Given the description of an element on the screen output the (x, y) to click on. 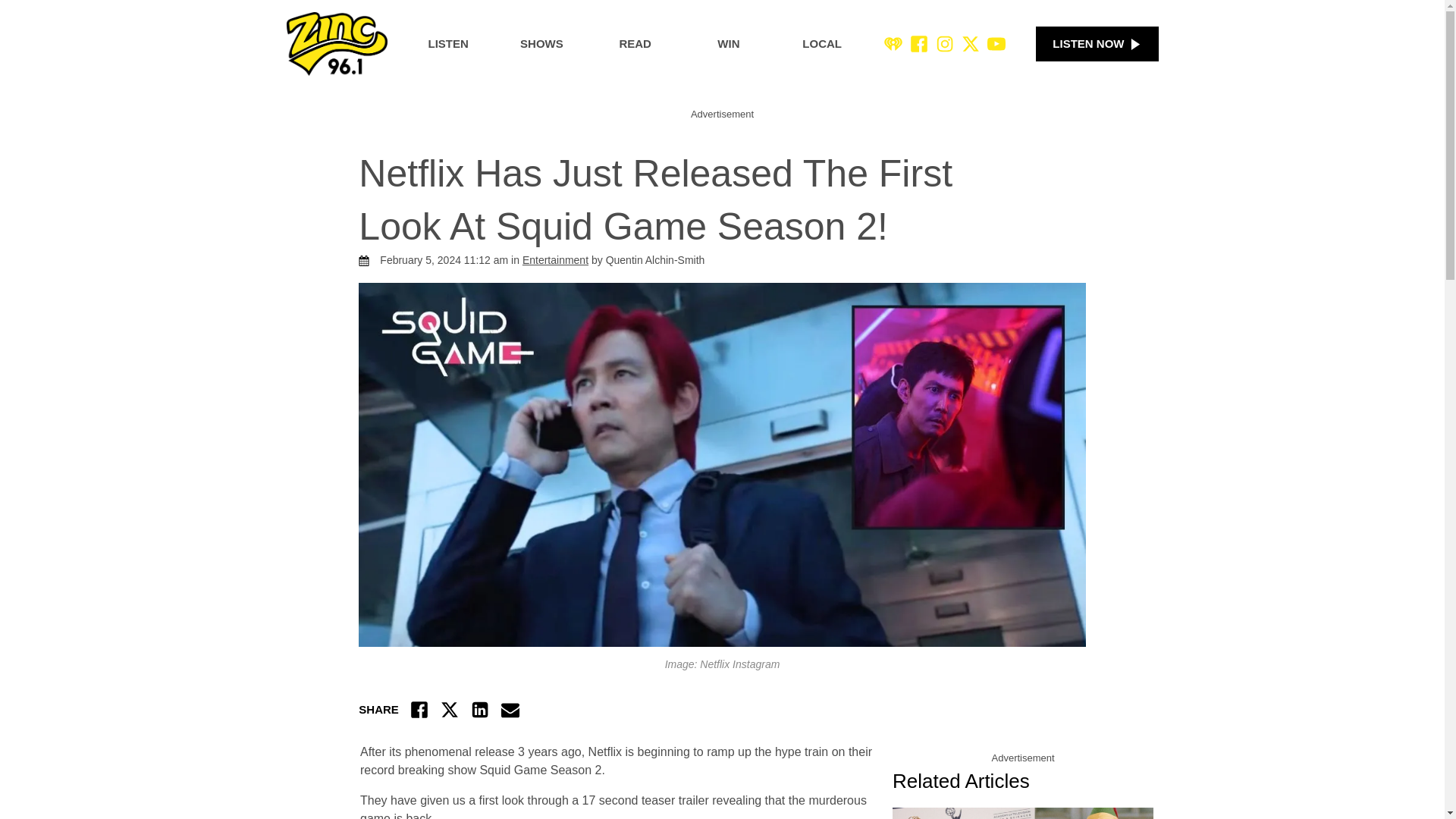
SHOWS (541, 43)
LISTEN NOW (1096, 44)
WIN (727, 43)
READ (634, 43)
Facebook (919, 44)
YouTube (996, 44)
iHeart (892, 44)
LISTEN (448, 43)
LOCAL (822, 43)
Instagram (944, 44)
